Given the description of an element on the screen output the (x, y) to click on. 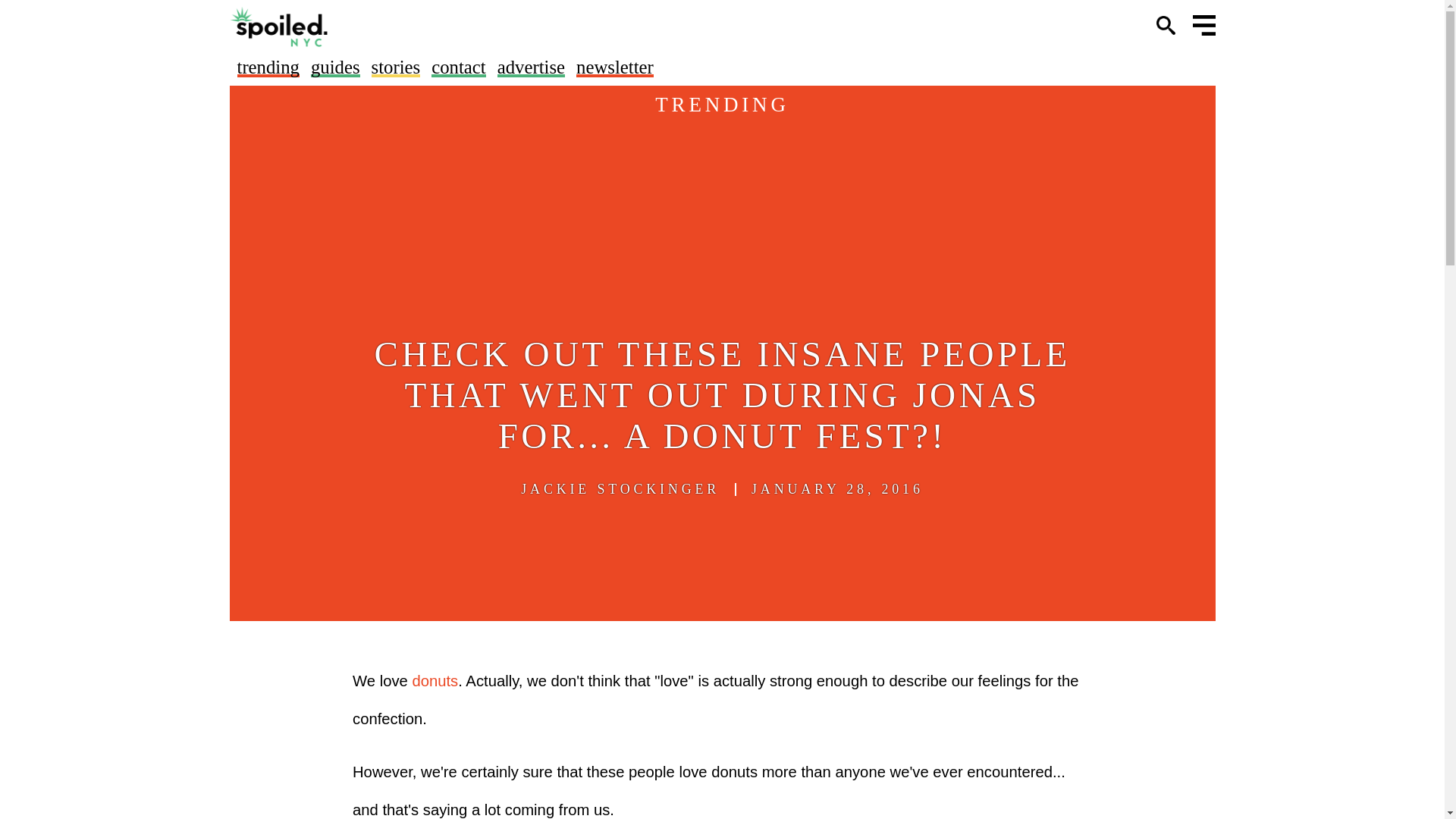
stories (395, 66)
advertise (530, 66)
contact (457, 66)
JACKIE STOCKINGER (620, 489)
TRENDING (722, 104)
trending (266, 66)
guides (335, 66)
newsletter (614, 66)
donuts (435, 680)
